Given the description of an element on the screen output the (x, y) to click on. 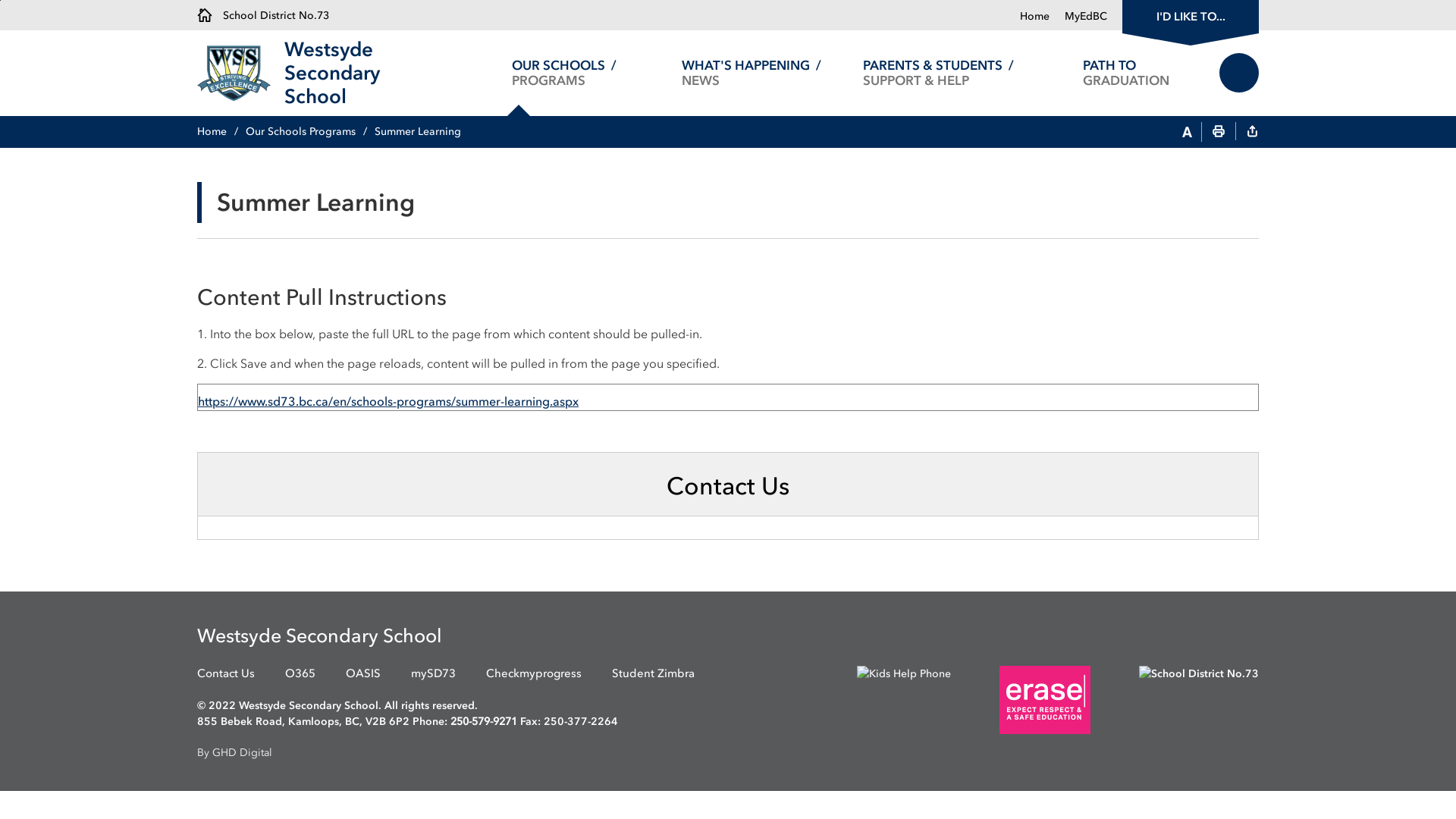
Skip to Content Element type: text (0, 0)
Default text size Element type: hover (1168, 132)
PARENTS & STUDENTS
SUPPORT & HELP Element type: text (938, 73)
OASIS Element type: text (362, 673)
Search Element type: text (1238, 72)
Increase text size Element type: hover (1187, 132)
O365 Element type: text (300, 673)
Expect Respect and a Safe Education Element type: hover (1044, 699)
I'D LIKE TO... Element type: text (1190, 15)
Print This Page Element type: hover (1218, 132)
PATH TO
GRADUATION Element type: text (1125, 73)
250-579-9271 Element type: text (483, 721)
mySD73 Element type: text (433, 673)
Decrease text size Element type: hover (1152, 132)
Home Element type: text (1034, 15)
OUR SCHOOLS
PROGRAMS Element type: text (563, 73)
MyEdBC Element type: text (1078, 15)
Click to return to the homepage Element type: hover (240, 73)
Checkmyprogress Element type: text (533, 673)
Westsyde Secondary
School Element type: text (377, 73)
WHAT'S HAPPENING
NEWS Element type: text (750, 73)
Our Schools Programs Element type: text (309, 131)
By GHD Digital Element type: text (727, 752)
  Element type: text (1251, 132)
Open new window to view Kids Help Phone Element type: hover (880, 698)
Student Zimbra Element type: text (652, 673)
Contact Us Element type: text (225, 673)
Home Element type: text (221, 131)
School District No.73 Element type: text (263, 15)
